Given the description of an element on the screen output the (x, y) to click on. 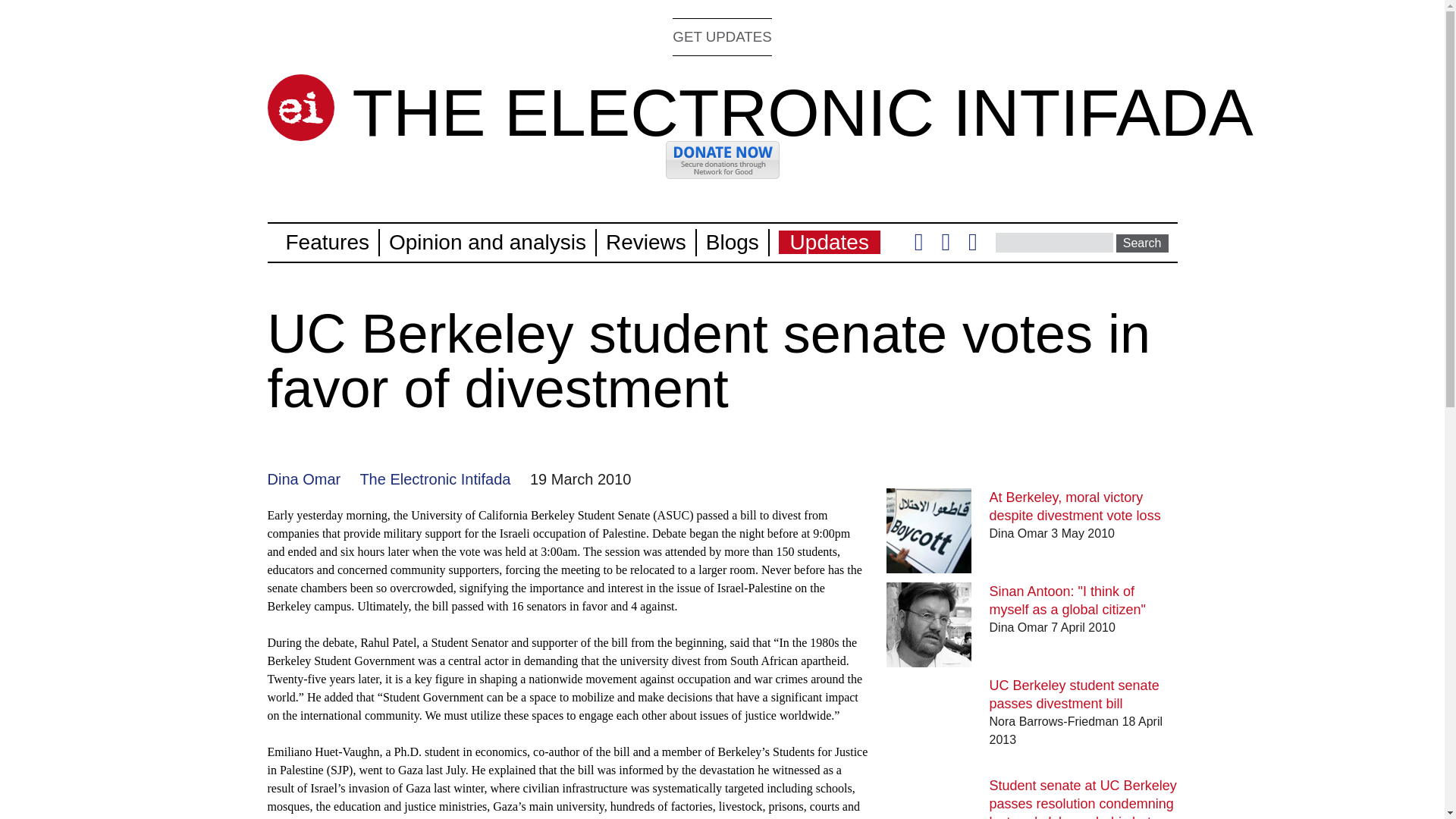
THE ELECTRONIC INTIFADA (802, 112)
At Berkeley, moral victory despite divestment vote loss (1075, 506)
Home (802, 112)
GET UPDATES (721, 37)
The Electronic Intifada (435, 478)
Dina Omar (303, 478)
Twitter (918, 245)
Reviews (645, 241)
Blogs (732, 241)
Search (1142, 243)
Facebook (945, 245)
YouTube (972, 245)
Search (1142, 243)
UC Berkeley student senate passes divestment bill (1074, 694)
